Given the description of an element on the screen output the (x, y) to click on. 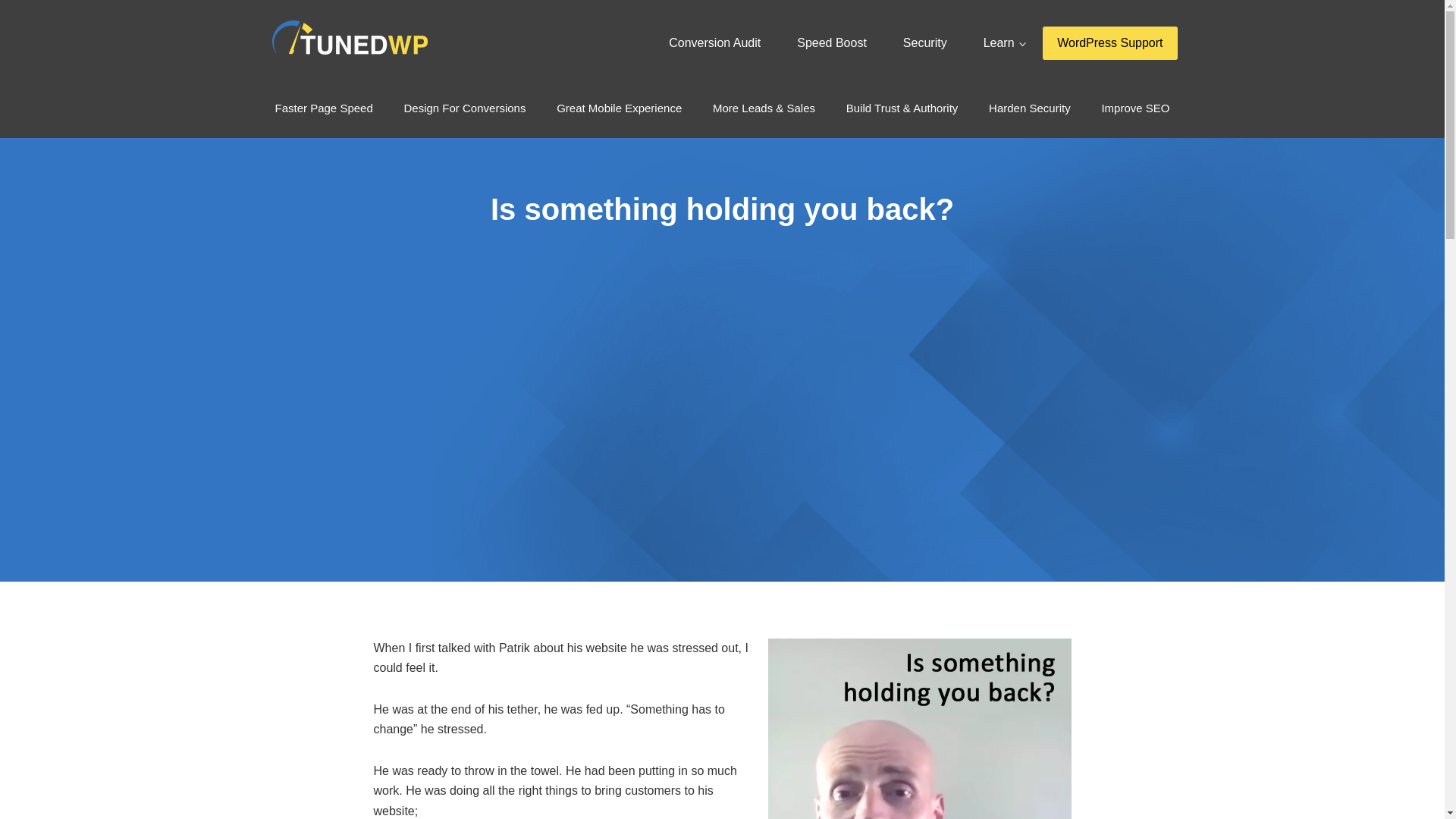
Harden Security (1029, 108)
Design For Conversions (464, 108)
Faster Page Speed (323, 108)
Conversion Audit (714, 42)
Great Mobile Experience (618, 108)
Speed Boost (831, 42)
Improve SEO (1134, 108)
Security (925, 42)
WordPress Support (1109, 42)
Learn (1004, 42)
